Given the description of an element on the screen output the (x, y) to click on. 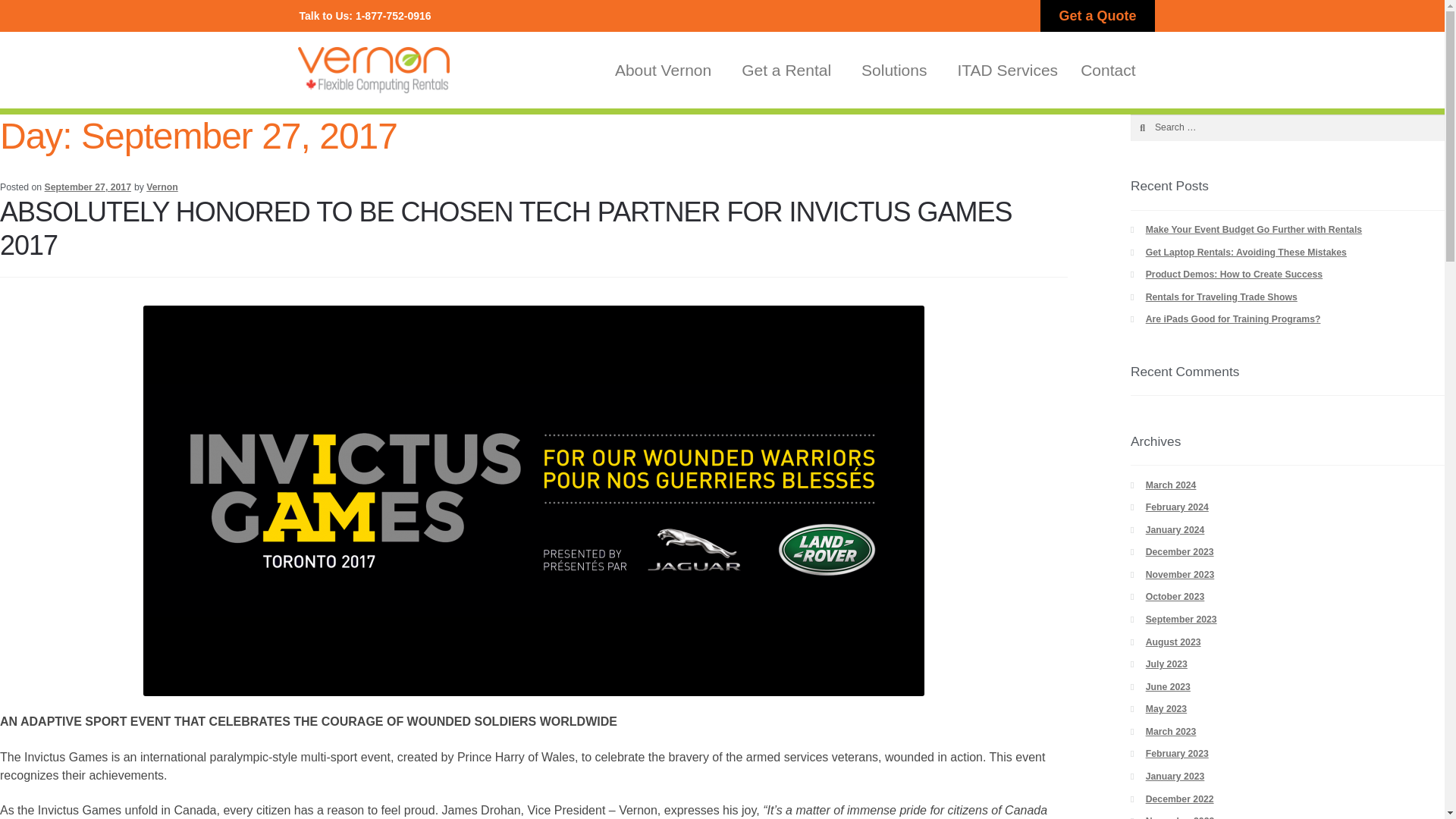
About Vernon (667, 69)
Get a Rental (790, 69)
Solutions (897, 69)
Get a Quote (1097, 15)
